Given the description of an element on the screen output the (x, y) to click on. 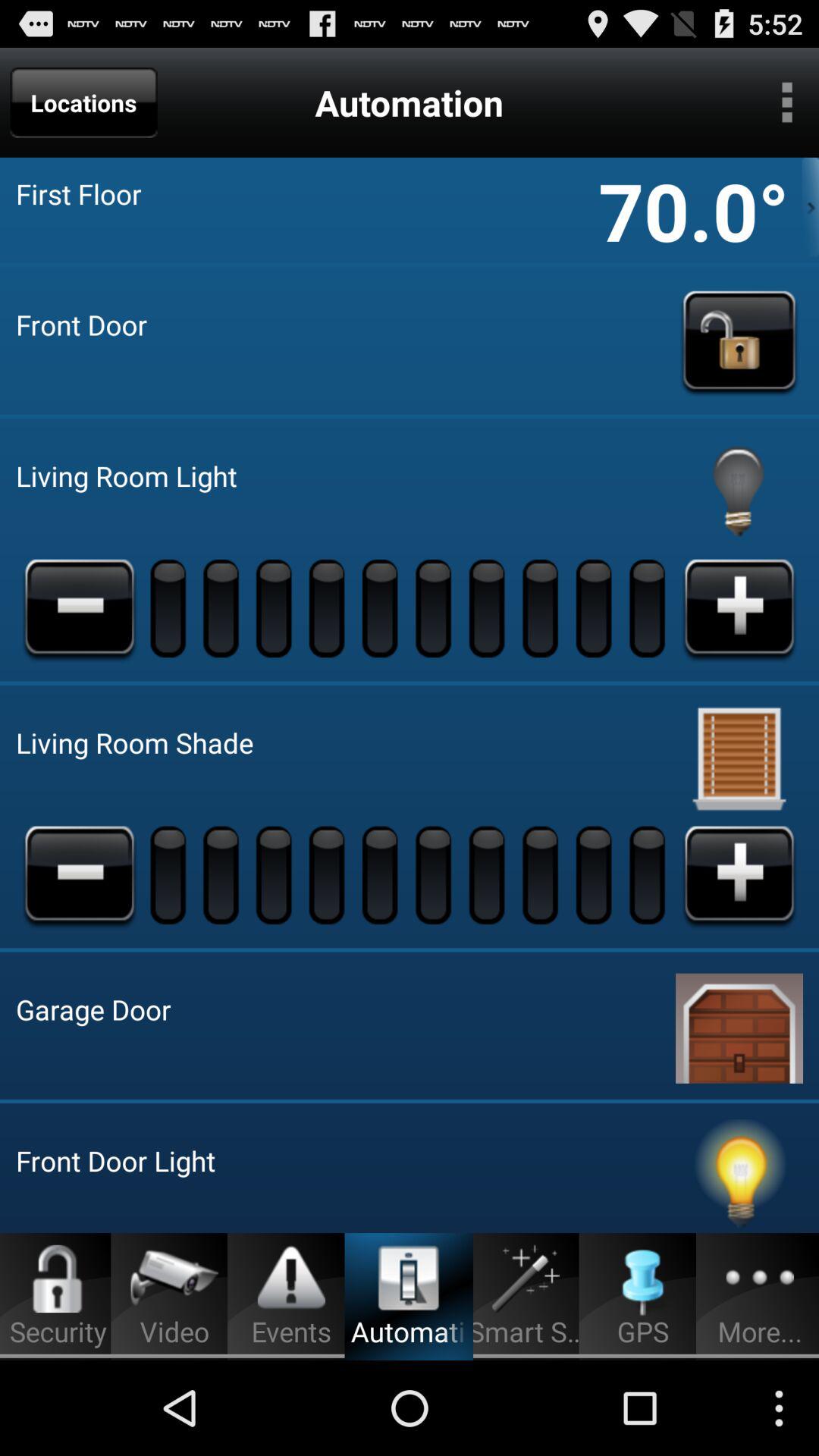
turn front door light on or off (739, 1176)
